Given the description of an element on the screen output the (x, y) to click on. 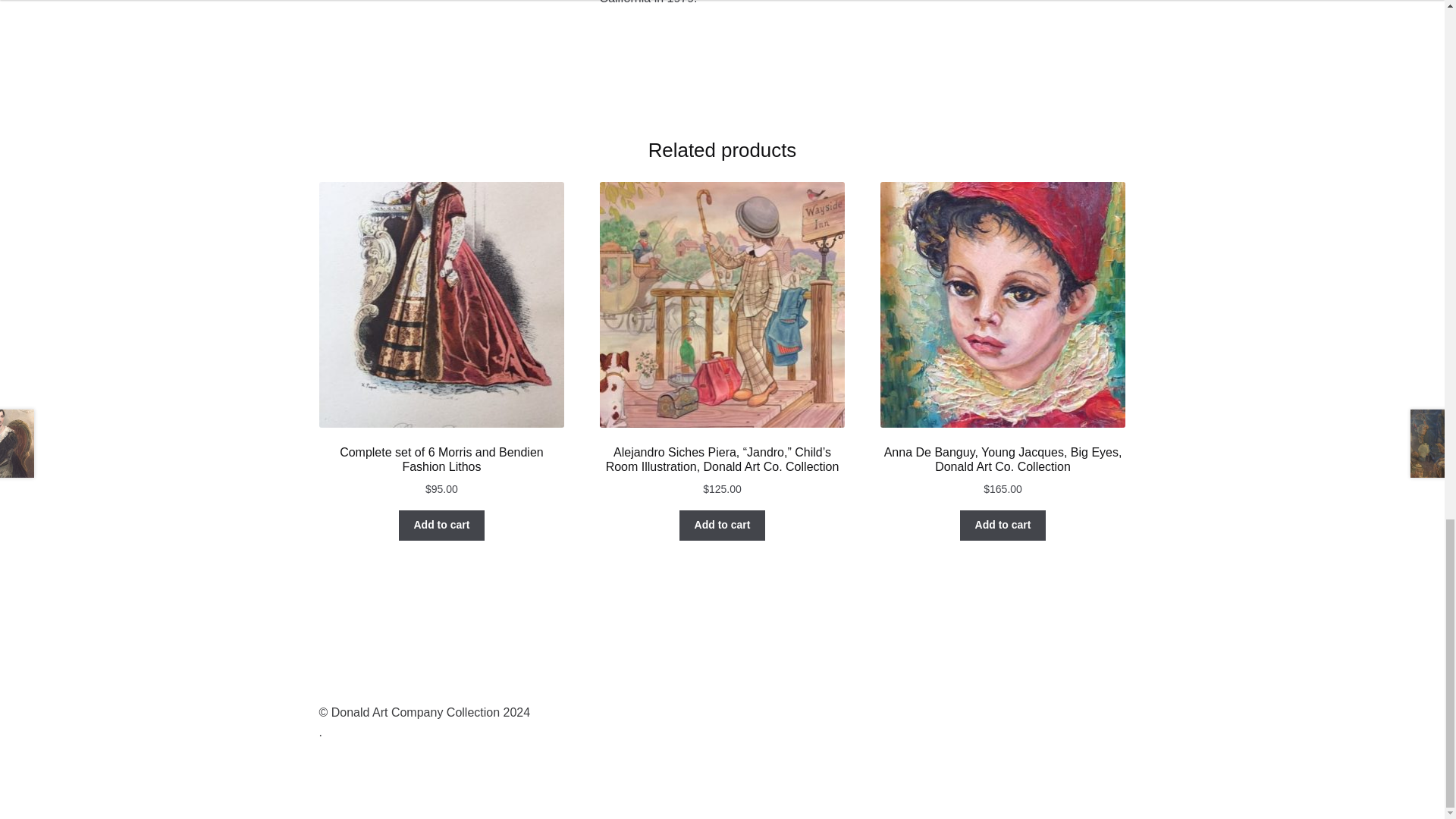
Add to cart (441, 525)
Add to cart (722, 525)
